Given the description of an element on the screen output the (x, y) to click on. 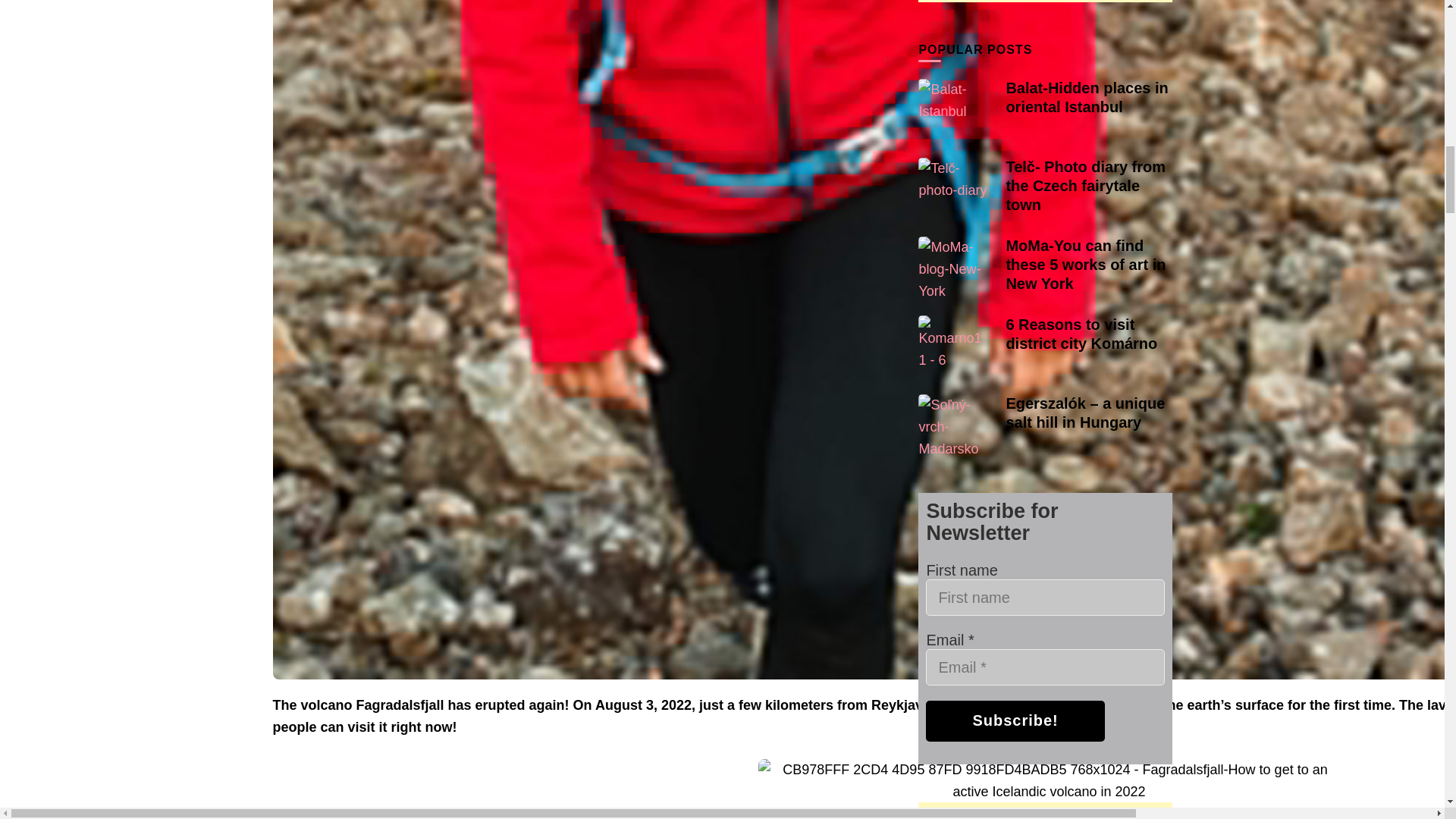
Balat (954, 100)
Subscribe! (1014, 721)
First name (1044, 597)
MoMa-blog-New-York (954, 269)
Email (1044, 667)
